Given the description of an element on the screen output the (x, y) to click on. 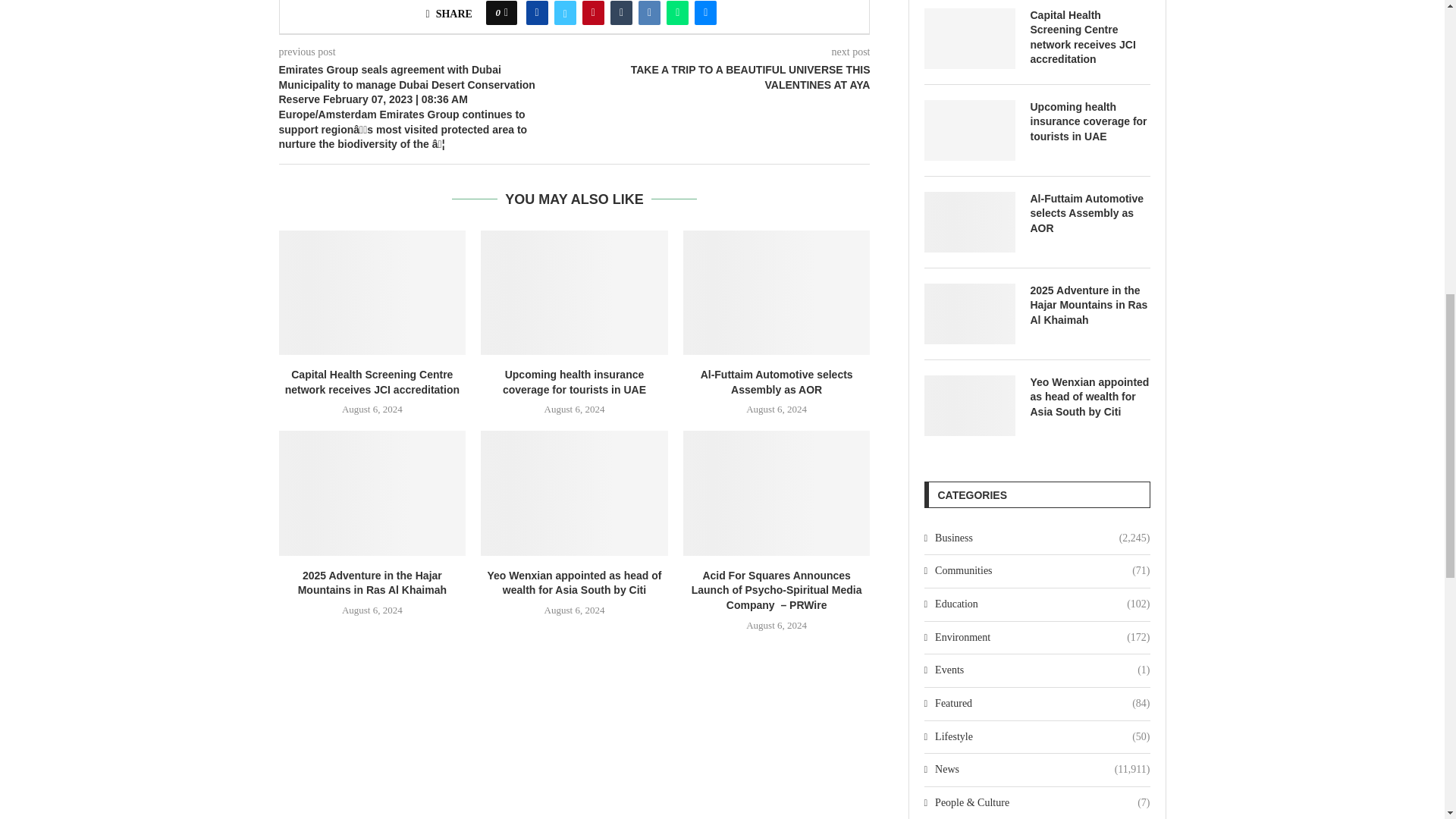
Al-Futtaim Automotive selects Assembly as AOR (776, 292)
Upcoming health insurance coverage for tourists in UAE (574, 292)
Upcoming health insurance coverage for tourists in UAE (968, 129)
2025 Adventure in the Hajar Mountains in Ras Al Khaimah (1089, 305)
Al-Futtaim Automotive selects Assembly as AOR (1089, 213)
2025 Adventure in the Hajar Mountains in Ras Al Khaimah (968, 313)
2025 Adventure in the Hajar Mountains in Ras Al Khaimah (372, 492)
Upcoming health insurance coverage for tourists in UAE (1089, 121)
Al-Futtaim Automotive selects Assembly as AOR (968, 221)
